Given the description of an element on the screen output the (x, y) to click on. 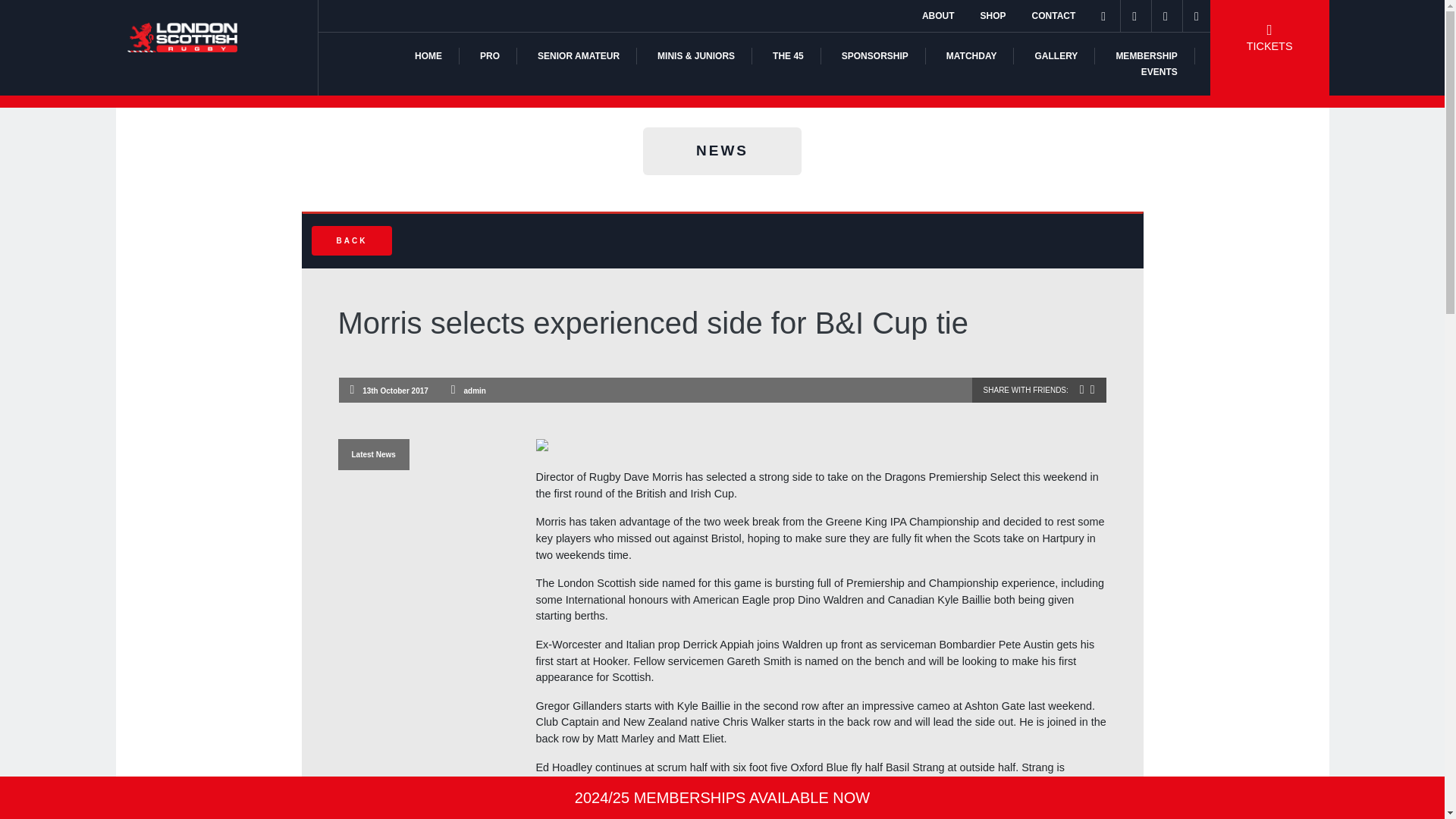
HOME (428, 55)
ABOUT (938, 15)
THE 45 (788, 55)
CONTACT (1053, 15)
MEMBERSHIP (1145, 55)
SHOP (992, 15)
MATCHDAY (971, 55)
GALLERY (1055, 55)
PRO (489, 55)
SENIOR AMATEUR (578, 55)
SPONSORSHIP (874, 55)
